Given the description of an element on the screen output the (x, y) to click on. 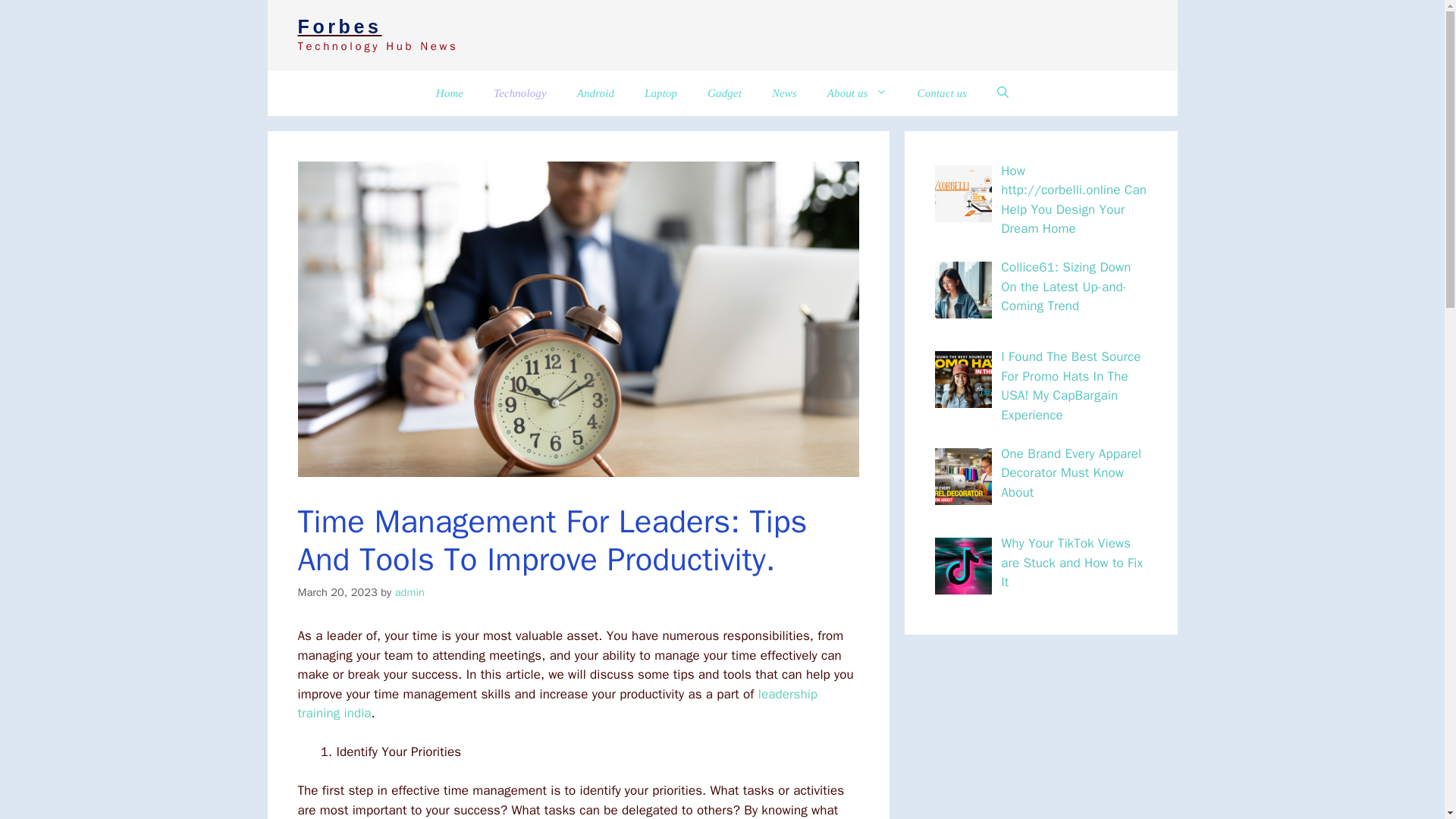
Laptop (660, 92)
Gadget (725, 92)
Home (449, 92)
One Brand Every Apparel Decorator Must Know About (1071, 472)
leadership training india (556, 703)
Collice61: Sizing Down On the Latest Up-and-Coming Trend (1066, 286)
Contact us (942, 92)
About us (857, 92)
Forbes (339, 25)
